Given the description of an element on the screen output the (x, y) to click on. 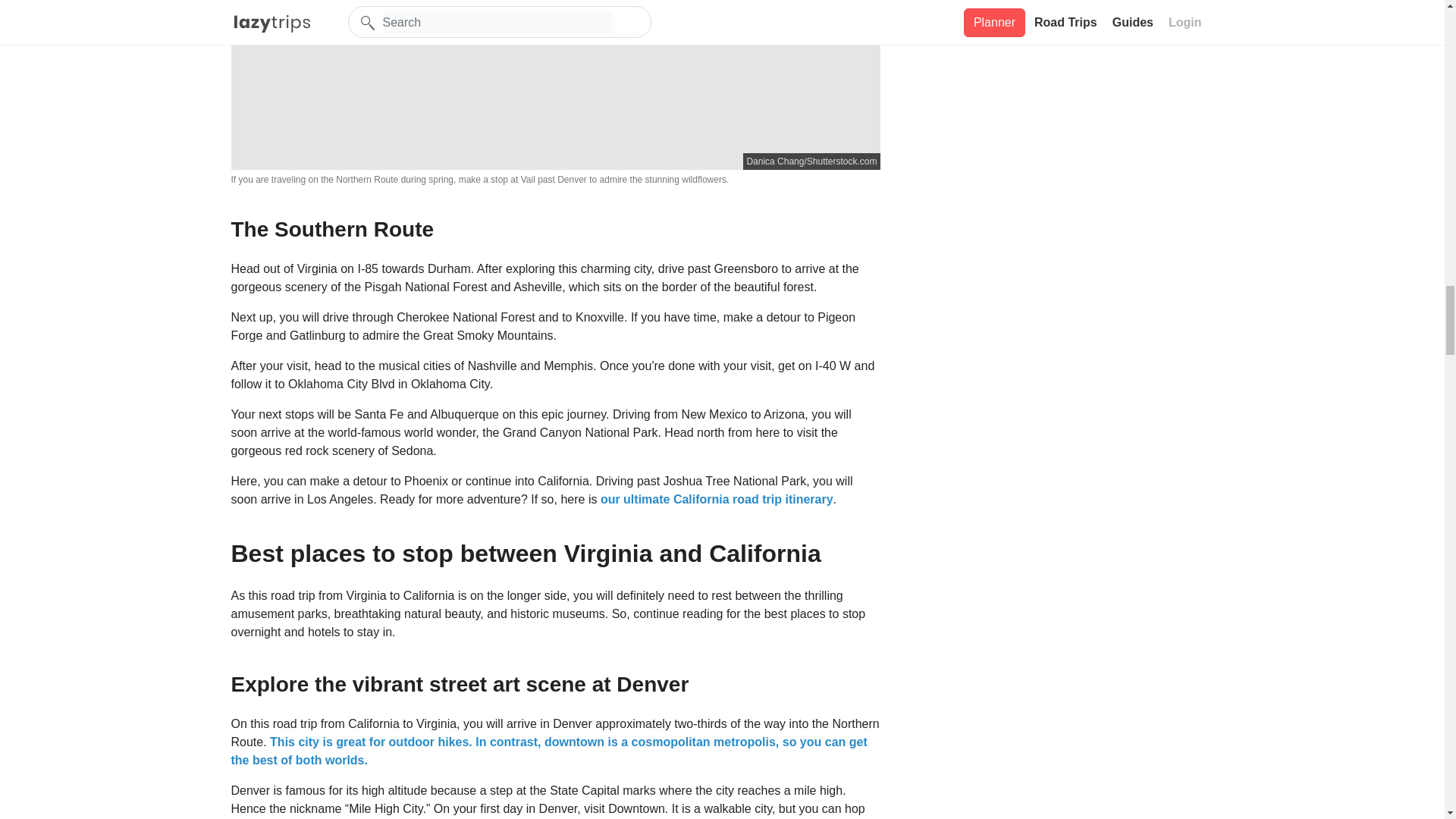
our ultimate California road trip itinerary (715, 499)
